Given the description of an element on the screen output the (x, y) to click on. 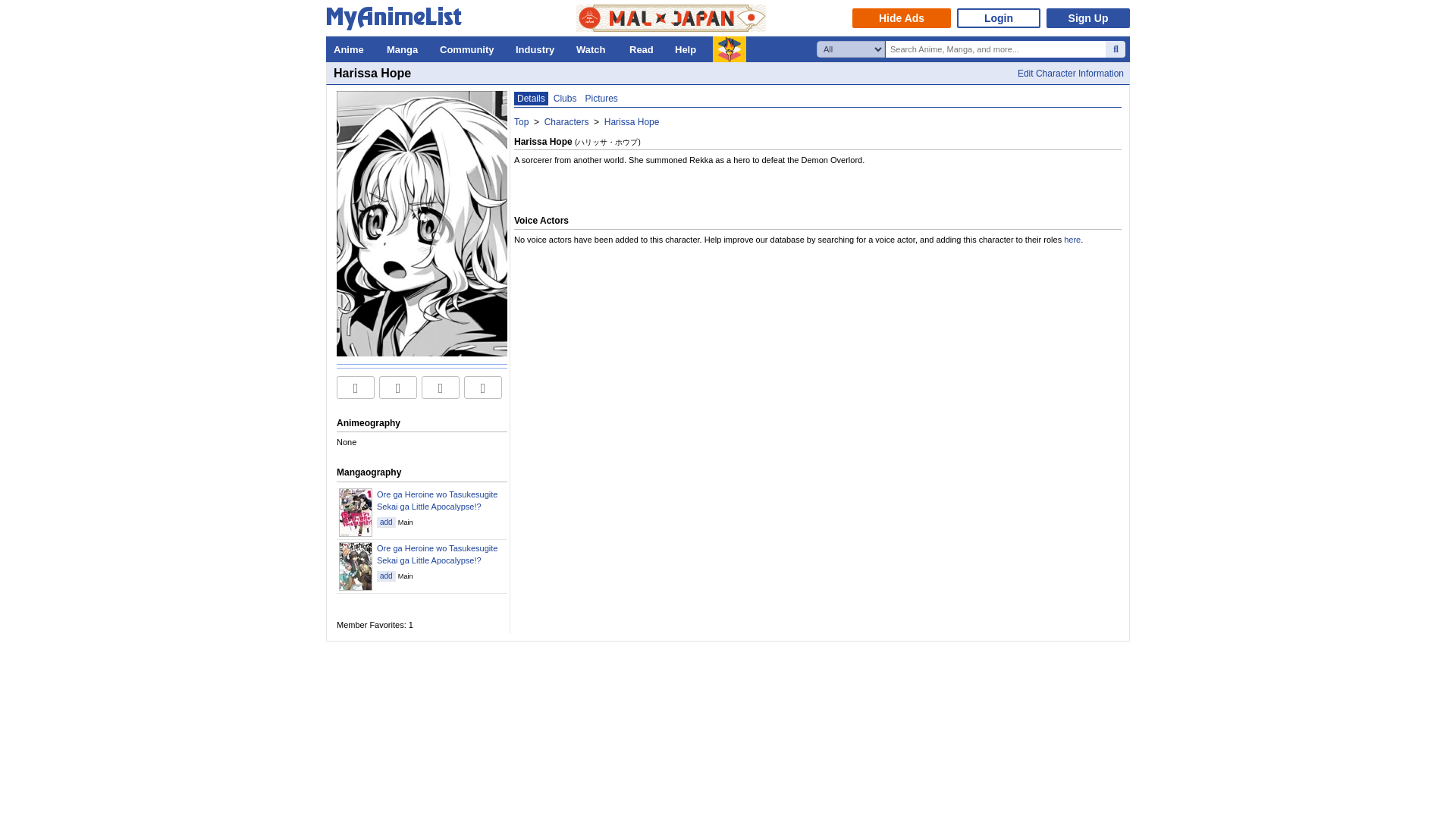
Community (470, 49)
Hide Ads (900, 17)
Login (998, 17)
Watch (595, 49)
Anime (352, 49)
Read (643, 49)
Industry (538, 49)
Manga (405, 49)
MyAnimeList.net (398, 21)
MAL x JAPAN (670, 17)
